Given the description of an element on the screen output the (x, y) to click on. 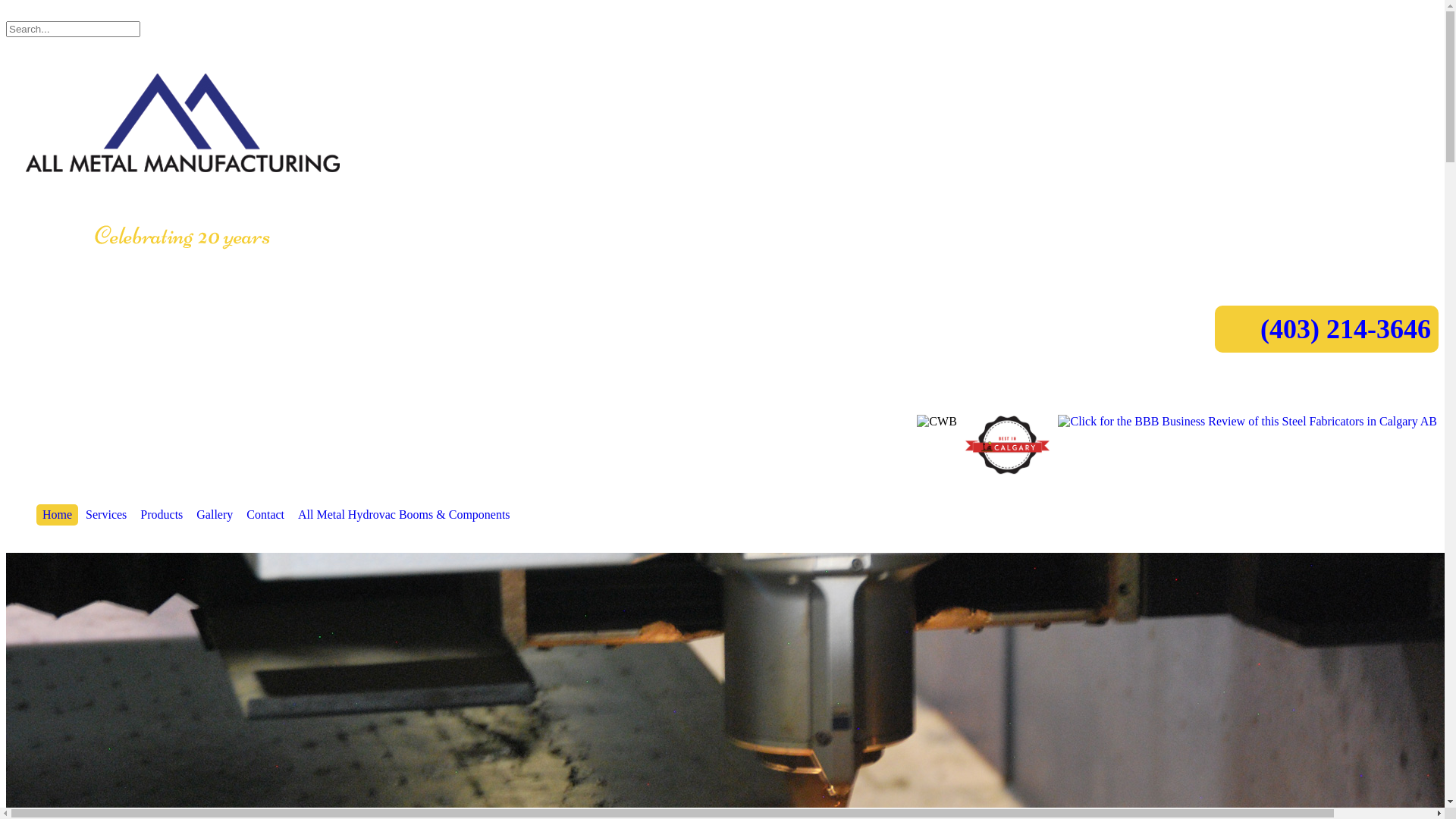
Gallery Element type: text (214, 514)
Home Element type: text (57, 514)
CWB Element type: hover (936, 421)
(403) 214-3646 Element type: text (1345, 328)
Contact Element type: text (265, 514)
All Metal Hydrovac Booms & Components Element type: text (403, 514)
Best in Calgary Element type: hover (1007, 444)
Products Element type: text (161, 514)
Services Element type: text (105, 514)
